Given the description of an element on the screen output the (x, y) to click on. 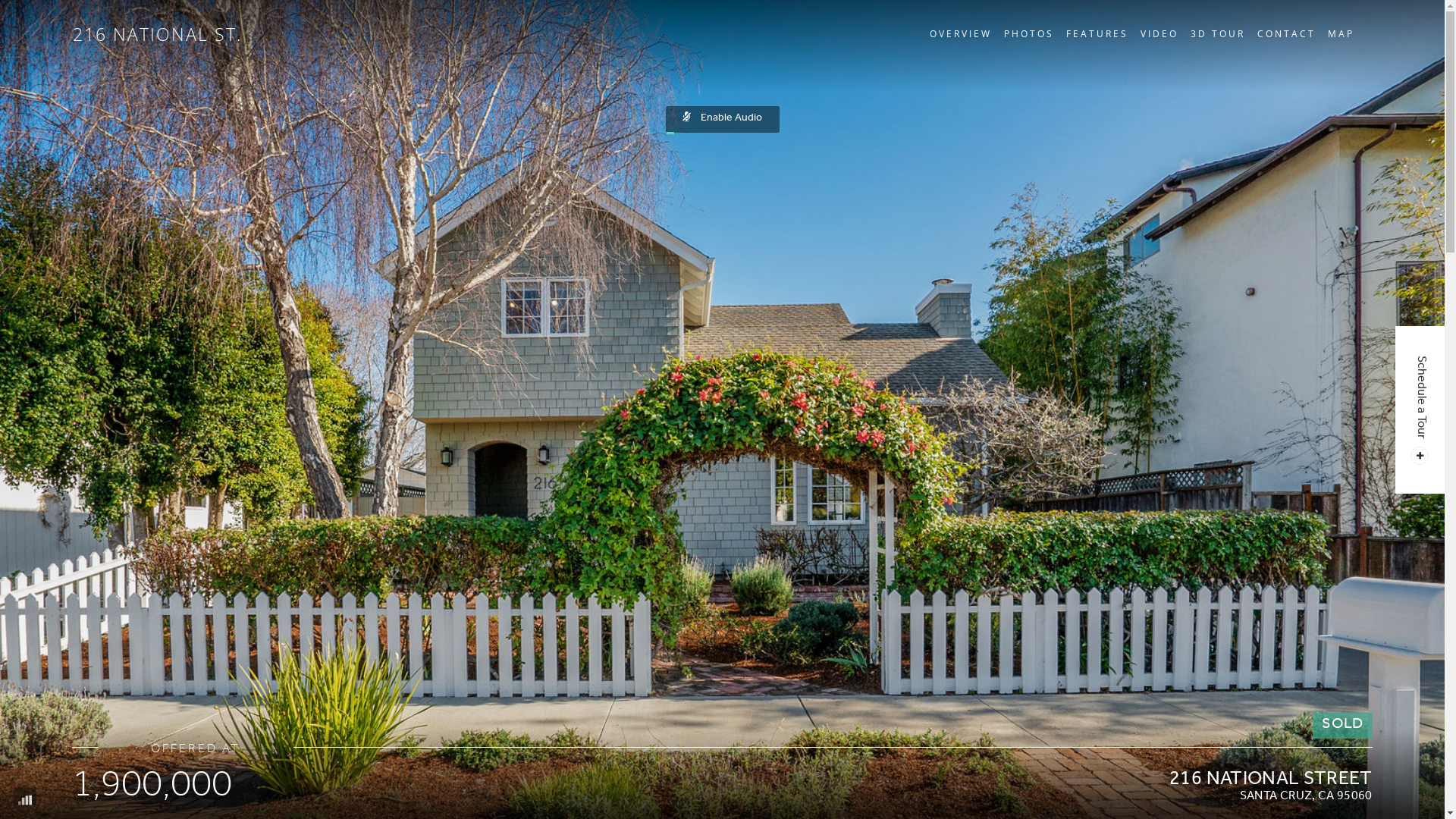
FEATURES Element type: text (1097, 33)
MAP Element type: text (1340, 33)
VIDEO Element type: text (1159, 33)
3D TOUR Element type: text (1217, 33)
PHOTOS Element type: text (1029, 33)
OVERVIEW Element type: text (960, 33)
CONTACT Element type: text (1286, 33)
